Given the description of an element on the screen output the (x, y) to click on. 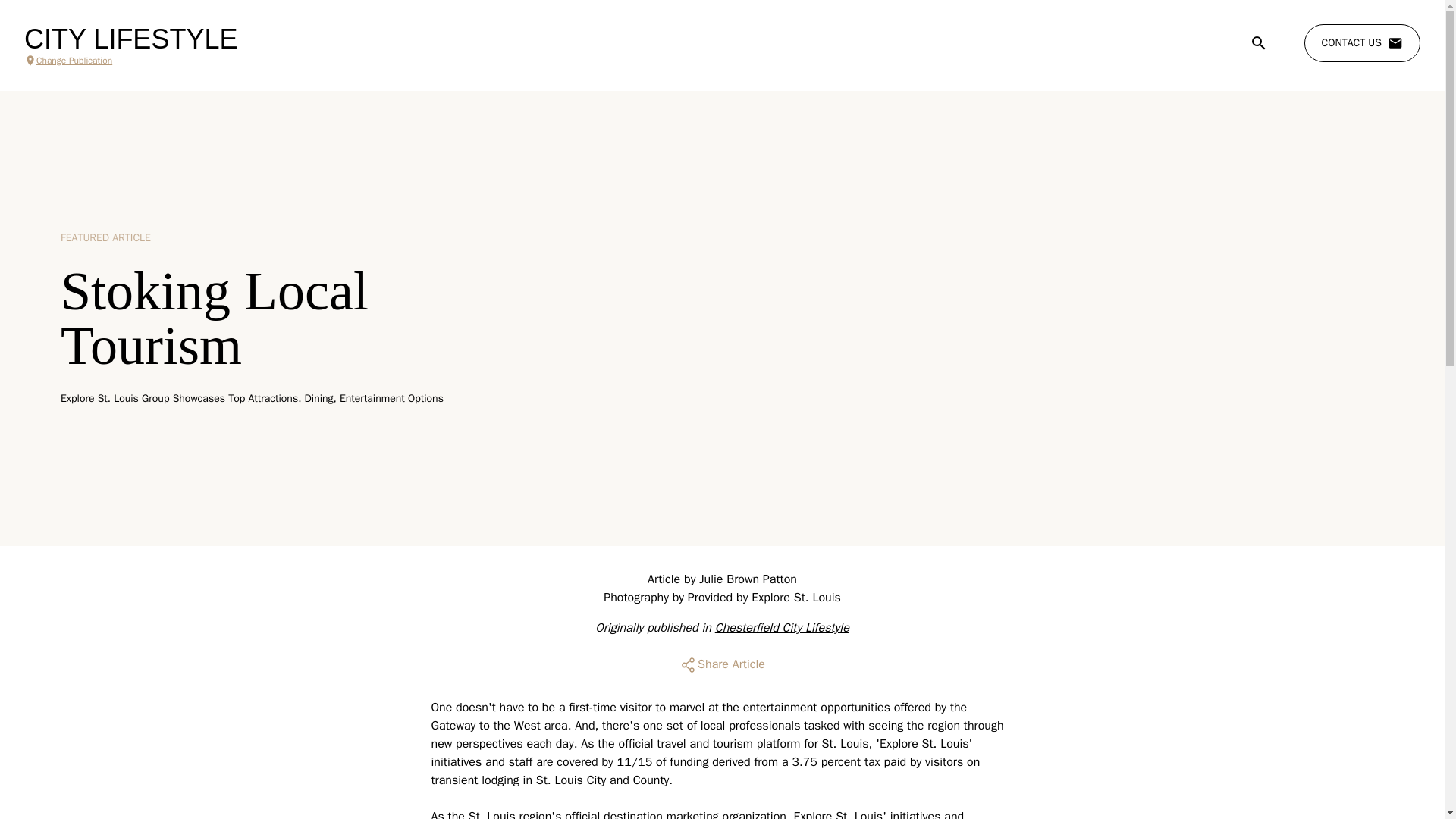
Chesterfield City Lifestyle (781, 627)
Share Article (722, 664)
Change Publication (130, 60)
CONTACT US (1362, 43)
CITY LIFESTYLE (130, 39)
